Given the description of an element on the screen output the (x, y) to click on. 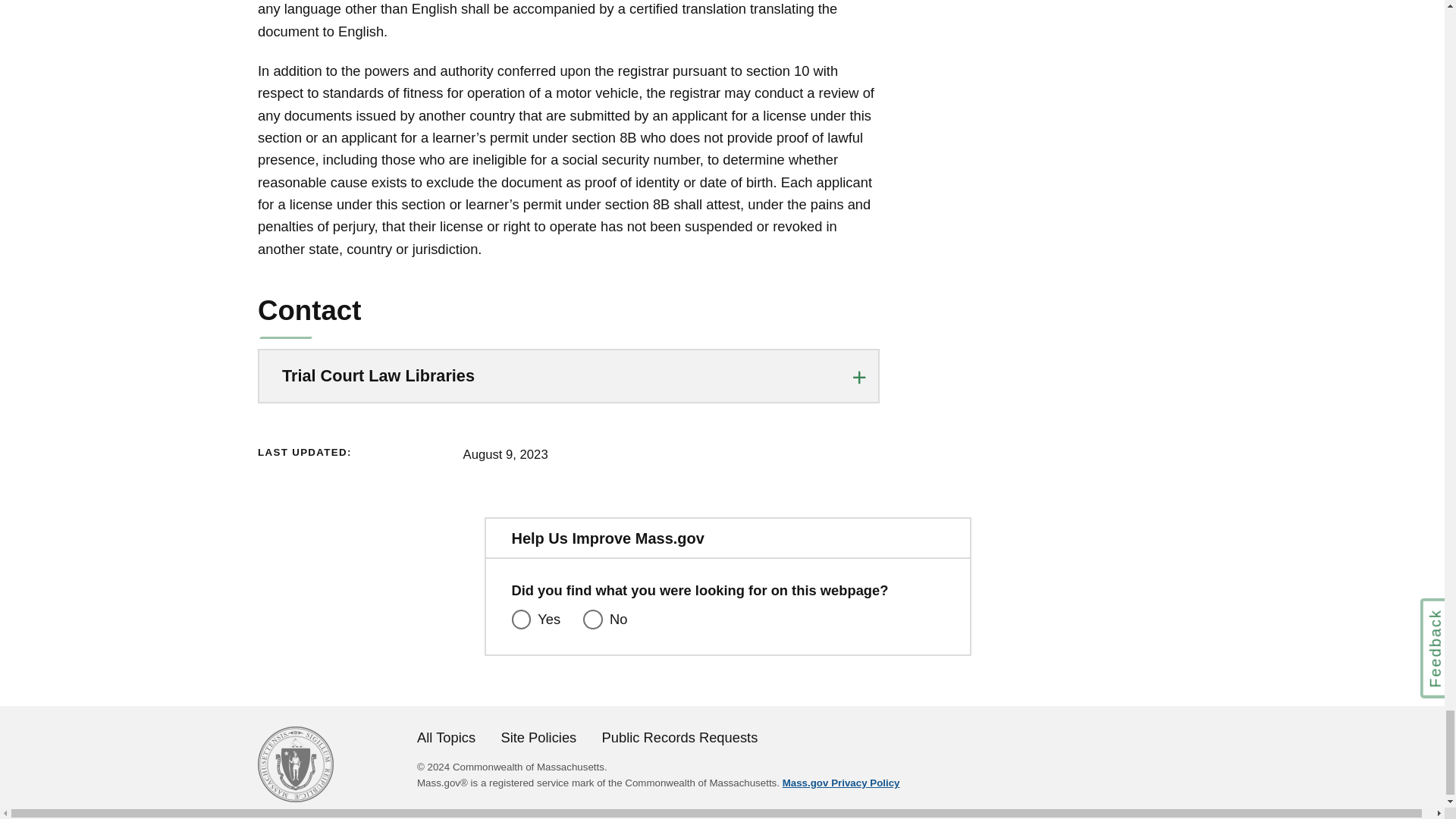
Mass.gov home page (295, 797)
